Given the description of an element on the screen output the (x, y) to click on. 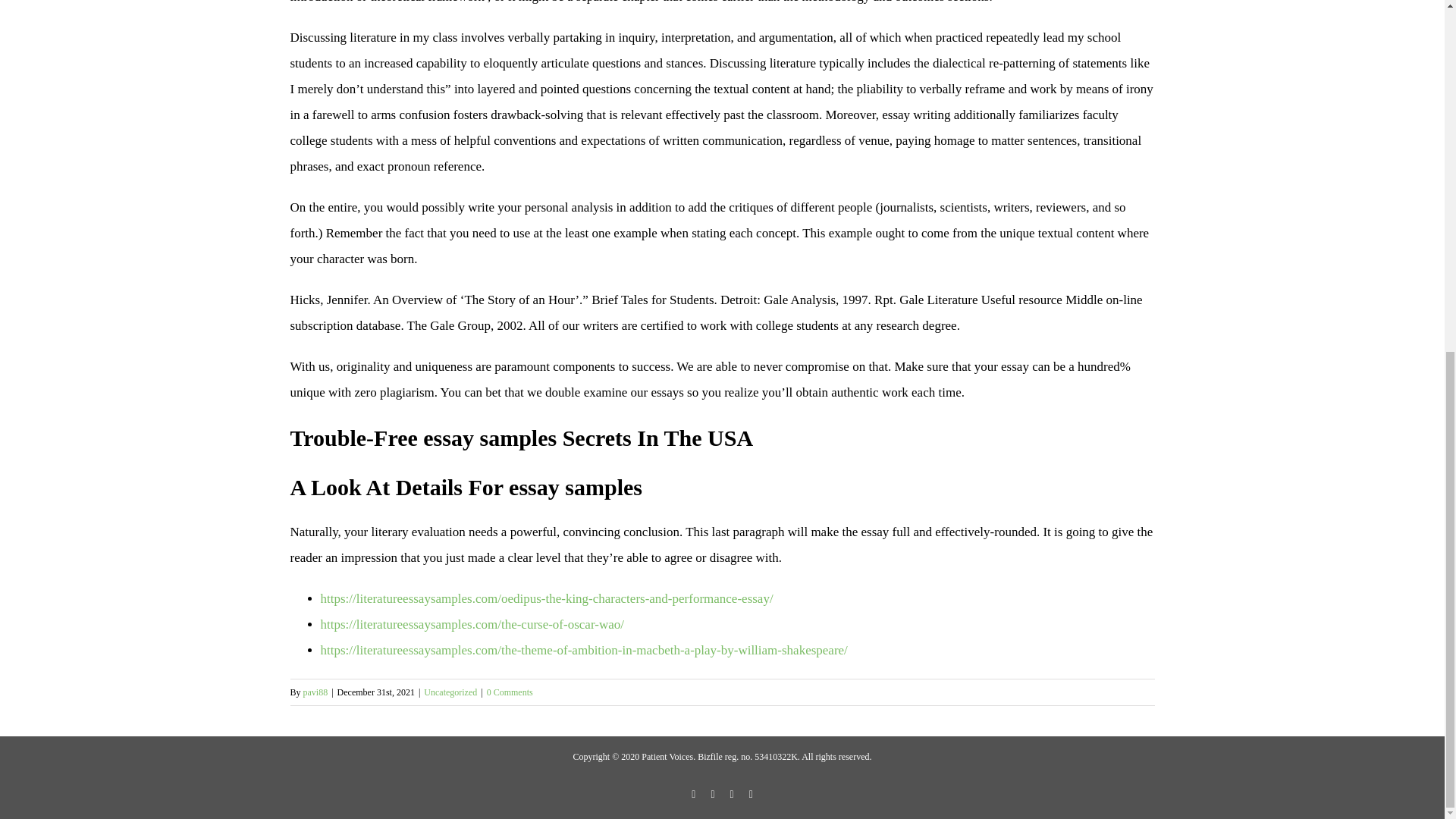
Uncategorized (450, 692)
pavi88 (315, 692)
0 Comments (509, 692)
Posts by pavi88 (315, 692)
